Given the description of an element on the screen output the (x, y) to click on. 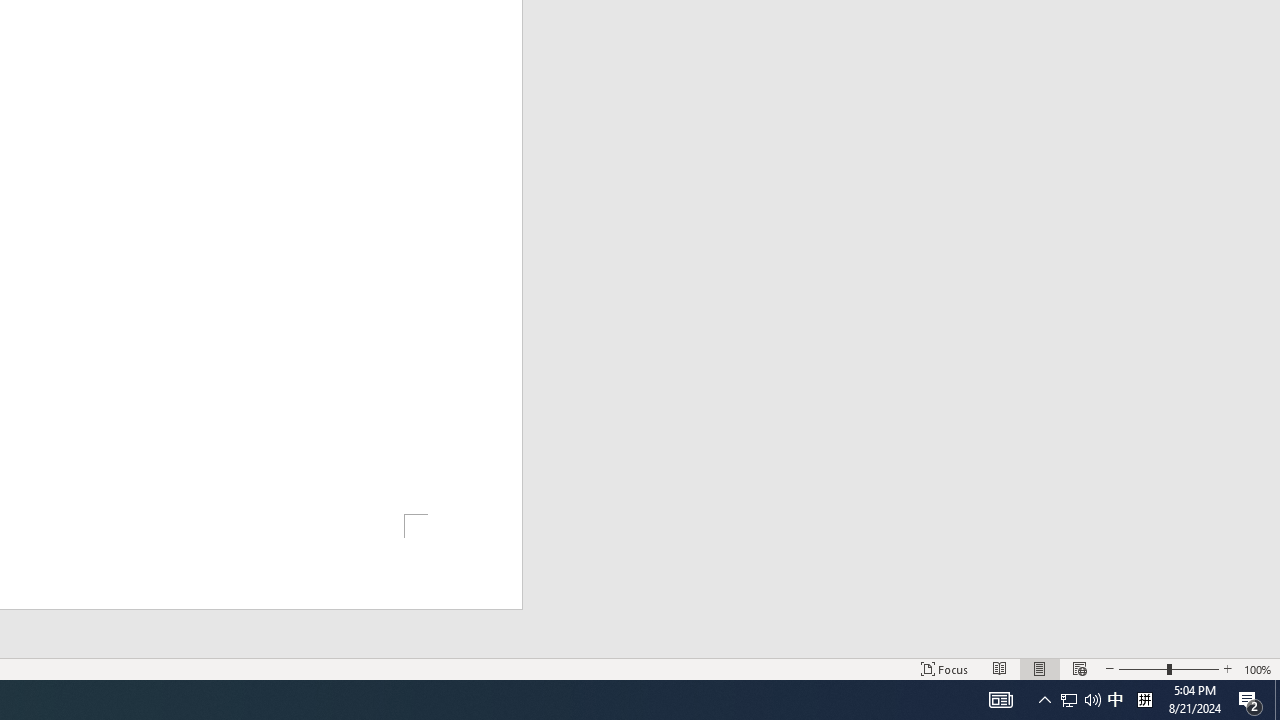
Zoom 100% (1258, 668)
